Given the description of an element on the screen output the (x, y) to click on. 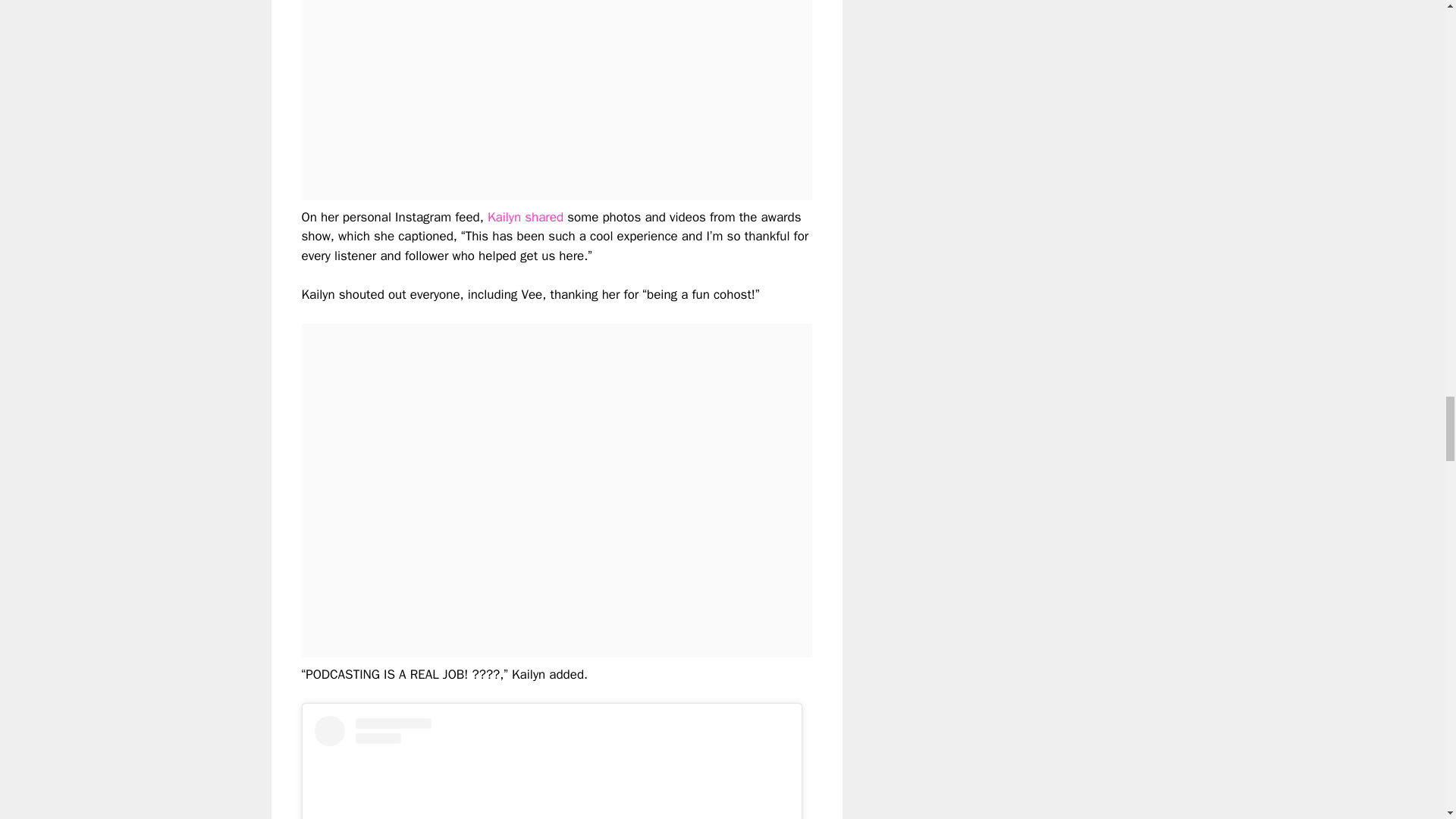
Kailyn shared (525, 217)
View this post on Instagram (551, 767)
